Given the description of an element on the screen output the (x, y) to click on. 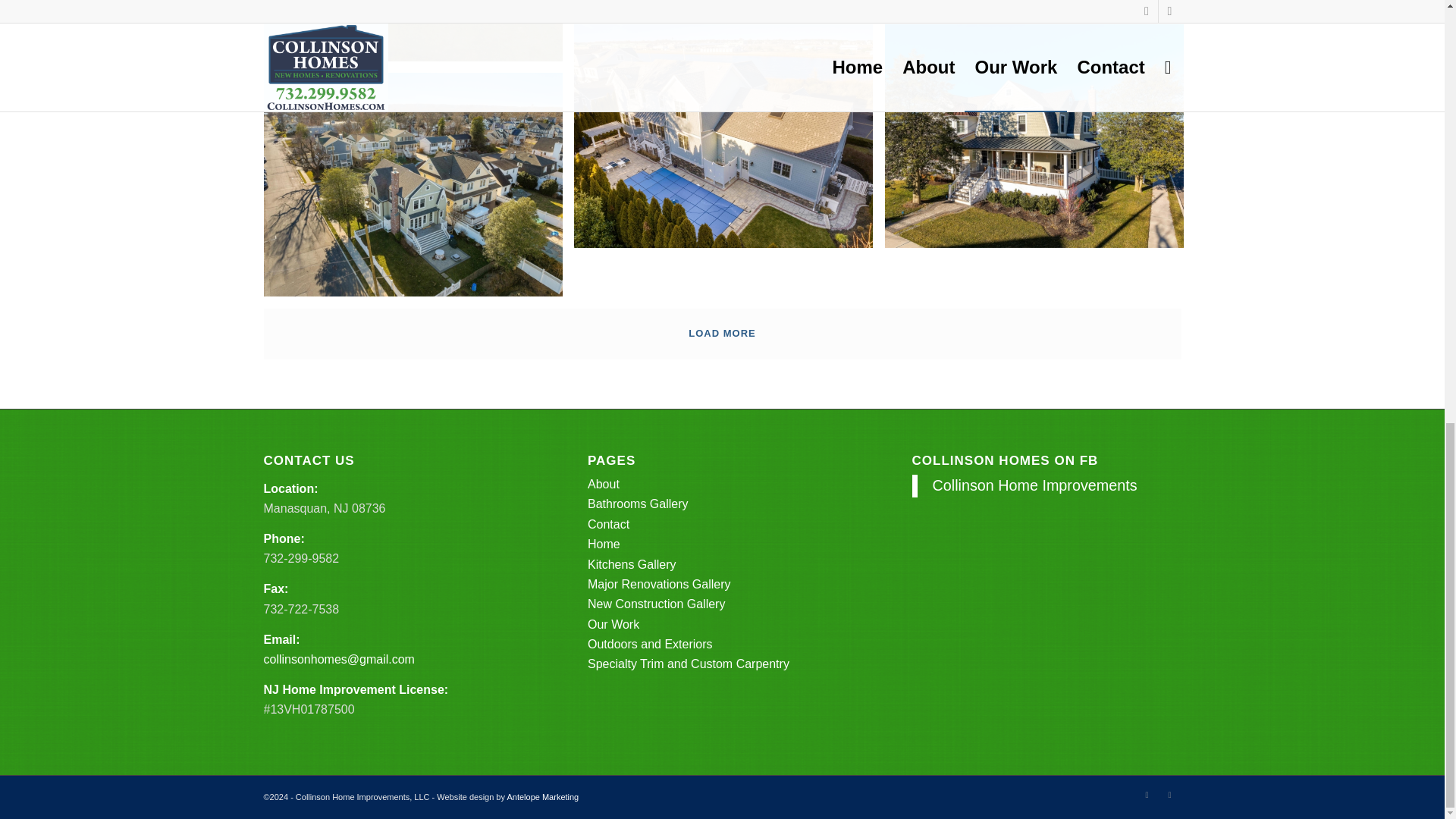
LOAD MORE (721, 333)
519Perrine-2 (728, 12)
